Given the description of an element on the screen output the (x, y) to click on. 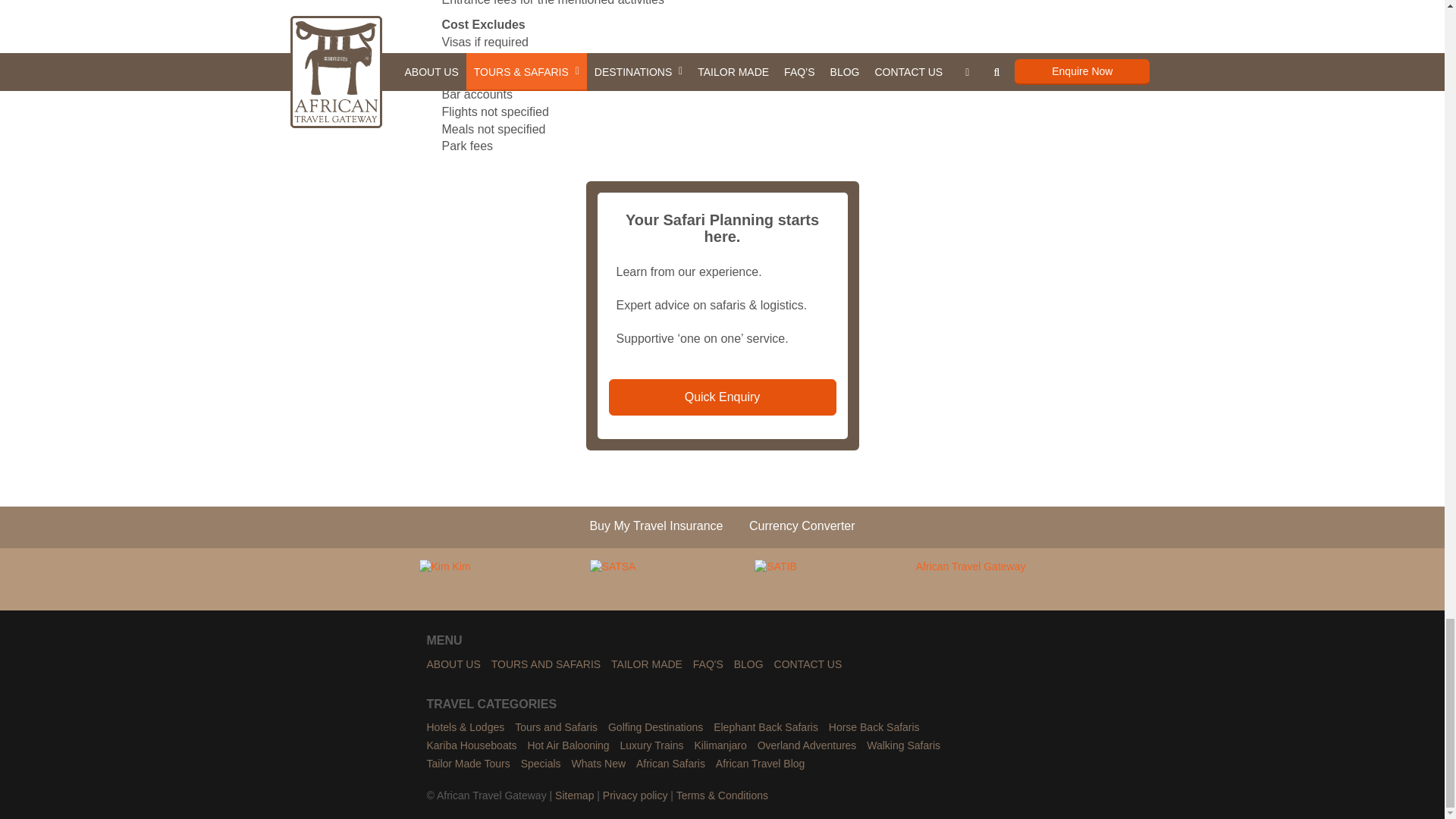
Kilimanjaro (719, 745)
Hot Air Balooning (567, 745)
Specials (540, 764)
Tailor Made Tours (467, 764)
Golfing Destinations (655, 727)
Buy My Travel Insurance (655, 526)
Whats New (598, 764)
Currency Converter (802, 526)
African Tours and Safaris (555, 727)
Luxury Trains (652, 745)
